Given the description of an element on the screen output the (x, y) to click on. 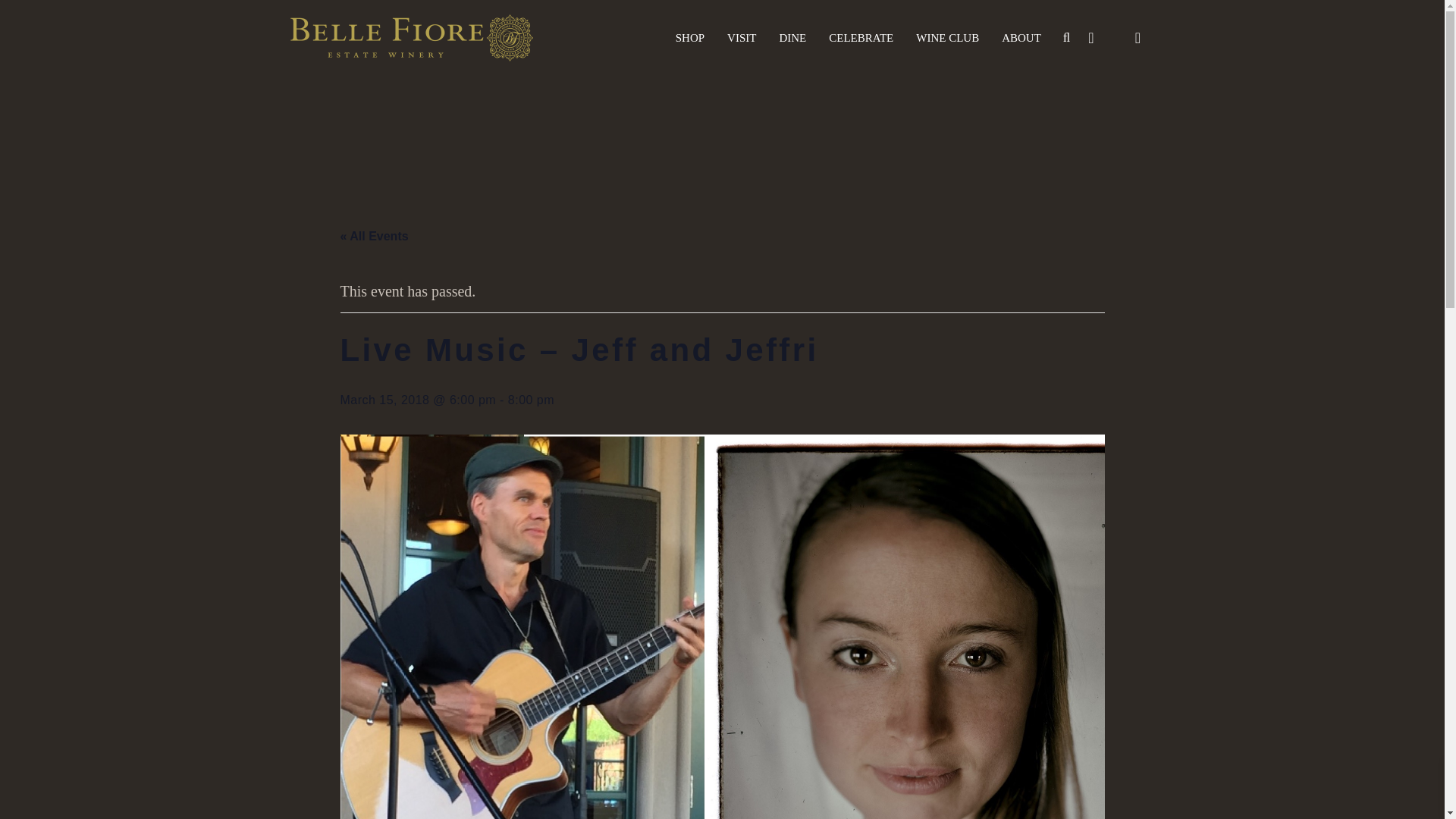
CELEBRATE (860, 37)
WINE CLUB (947, 37)
DINE (791, 37)
SHOP (689, 37)
ABOUT (1021, 37)
VISIT (741, 37)
